Given the description of an element on the screen output the (x, y) to click on. 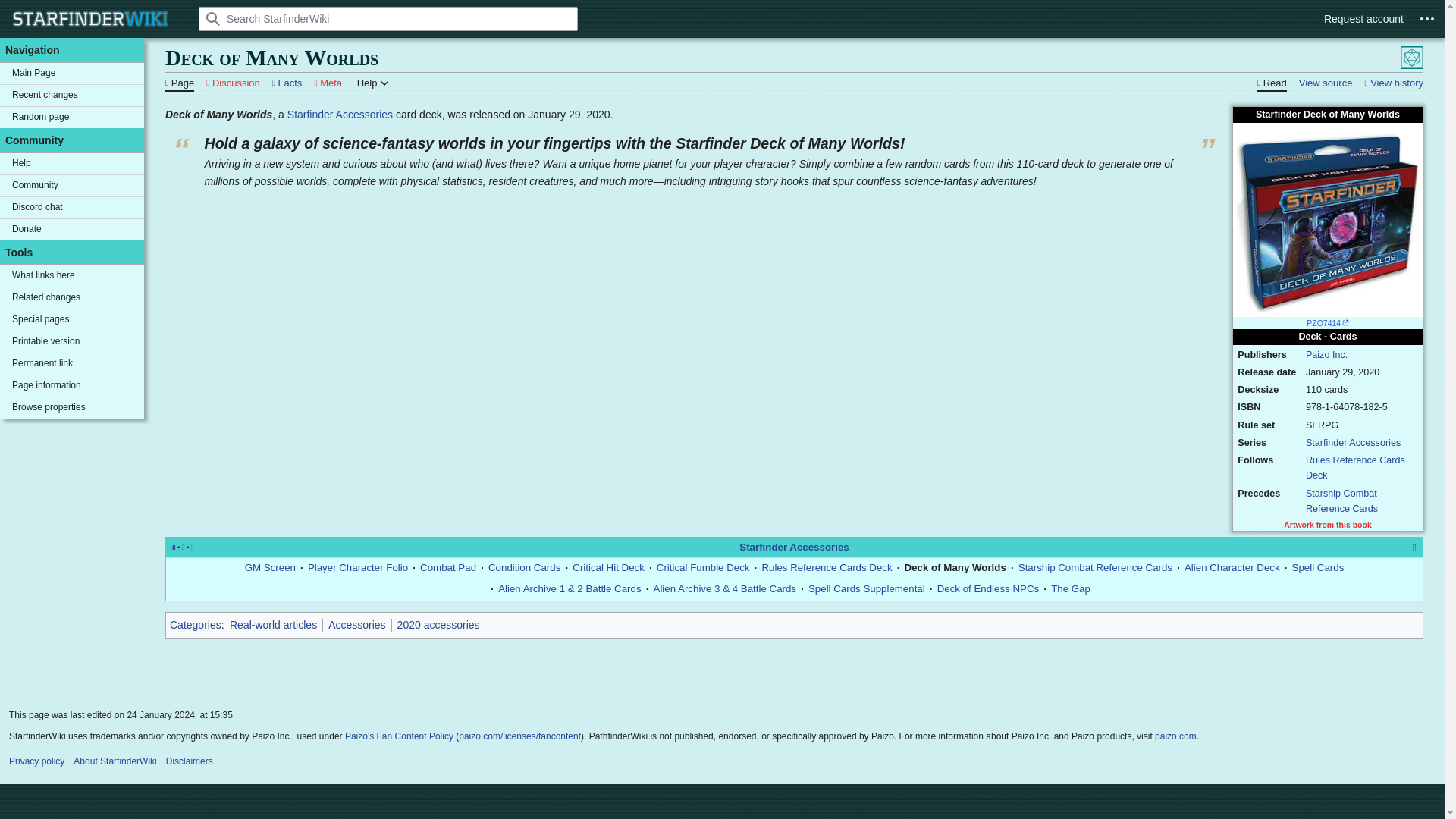
Discord chat (72, 207)
Page (179, 81)
Page information (72, 385)
Printable version (72, 341)
Search (213, 18)
Search the pages for this text (213, 18)
Permanent link to this revision of this page (72, 363)
Main Page (72, 73)
Related changes (72, 297)
Facts (287, 81)
Search (213, 18)
Go (213, 18)
Request account (1363, 19)
Go (213, 18)
